Given the description of an element on the screen output the (x, y) to click on. 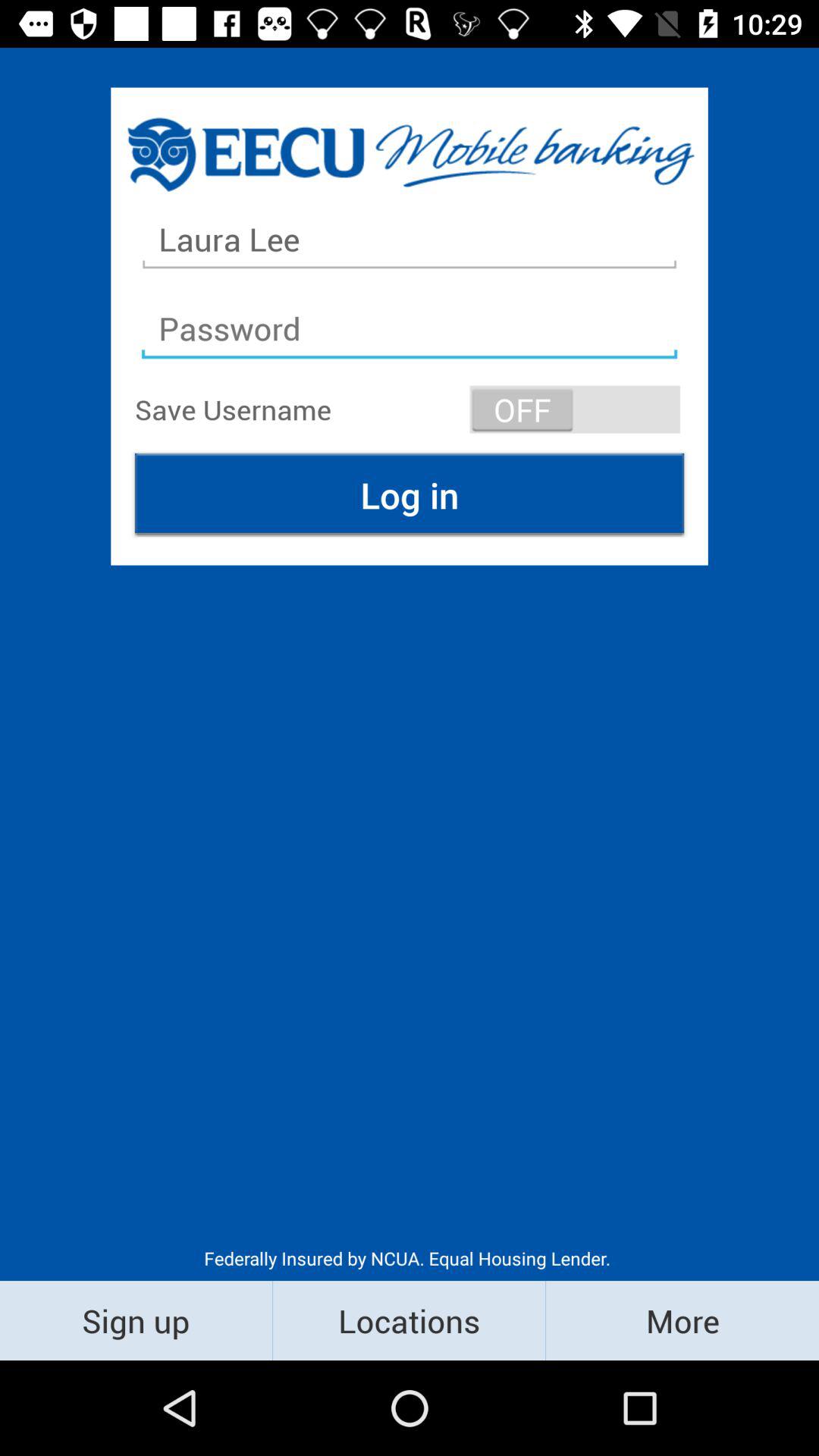
open the locations (409, 1320)
